Given the description of an element on the screen output the (x, y) to click on. 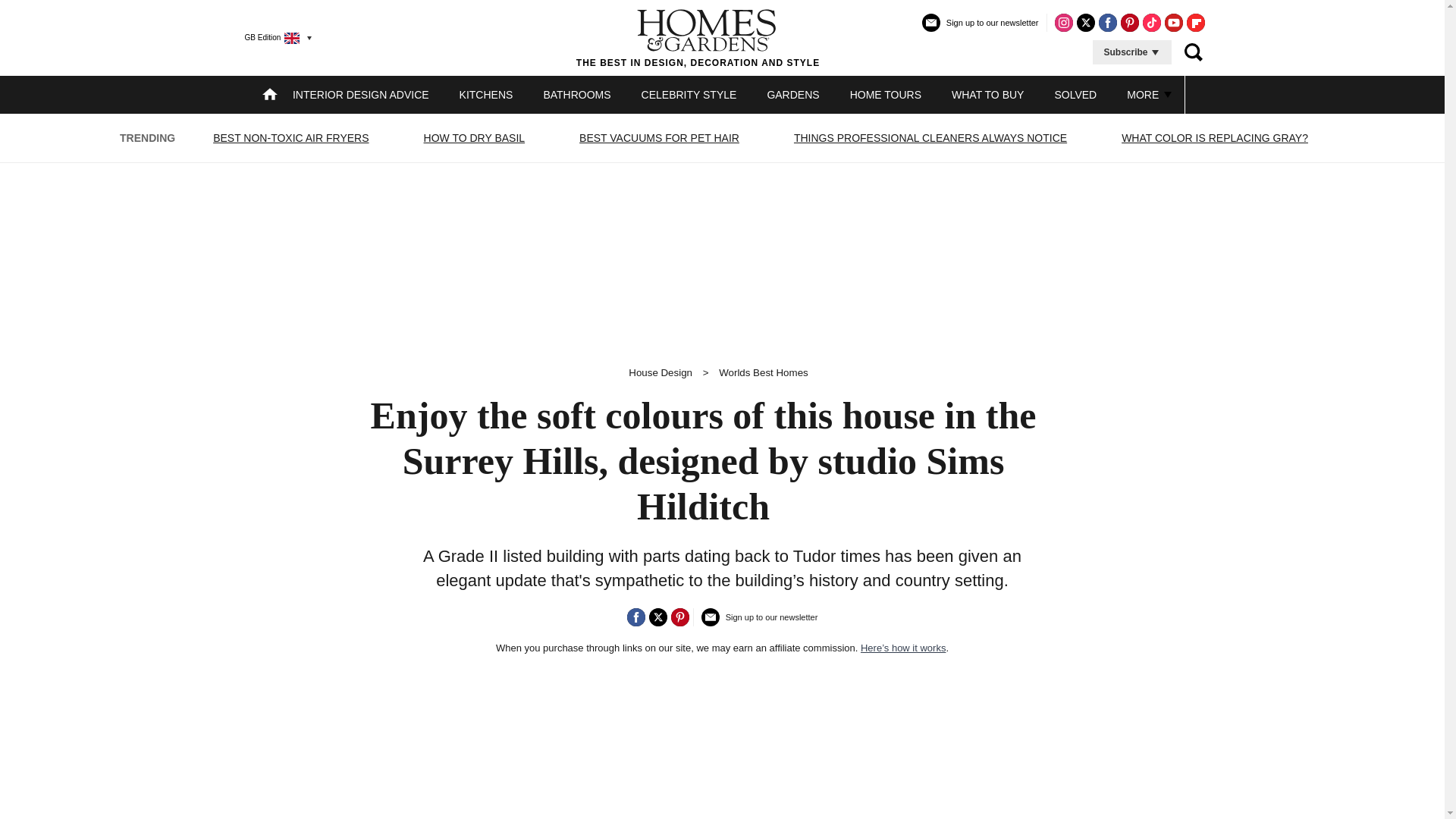
INTERIOR DESIGN ADVICE (360, 94)
BEST NON-TOXIC AIR FRYERS (291, 137)
HOW TO DRY BASIL (475, 137)
GB Edition (271, 37)
BEST VACUUMS FOR PET HAIR (658, 137)
THE BEST IN DESIGN, DECORATION AND STYLE (697, 37)
WHAT COLOR IS REPLACING GRAY? (1214, 137)
CELEBRITY STYLE (689, 94)
WHAT TO BUY (987, 94)
BATHROOMS (576, 94)
